Given the description of an element on the screen output the (x, y) to click on. 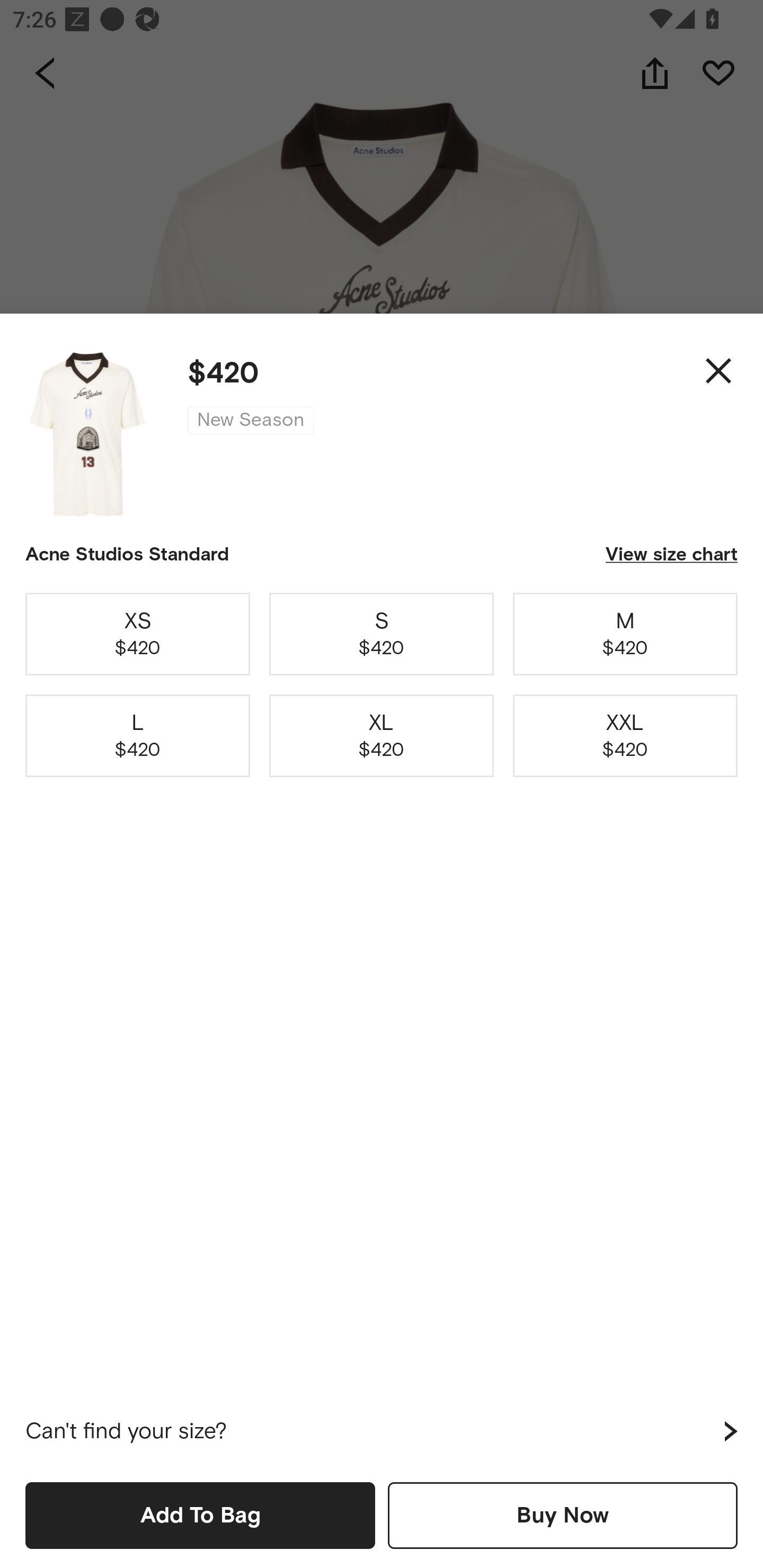
XS $420 (137, 633)
S $420 (381, 633)
M $420 (624, 633)
L $420 (137, 735)
XL $420 (381, 735)
XXL $420 (624, 735)
Can't find your size? (381, 1431)
Add To Bag (200, 1515)
Buy Now (562, 1515)
